Given the description of an element on the screen output the (x, y) to click on. 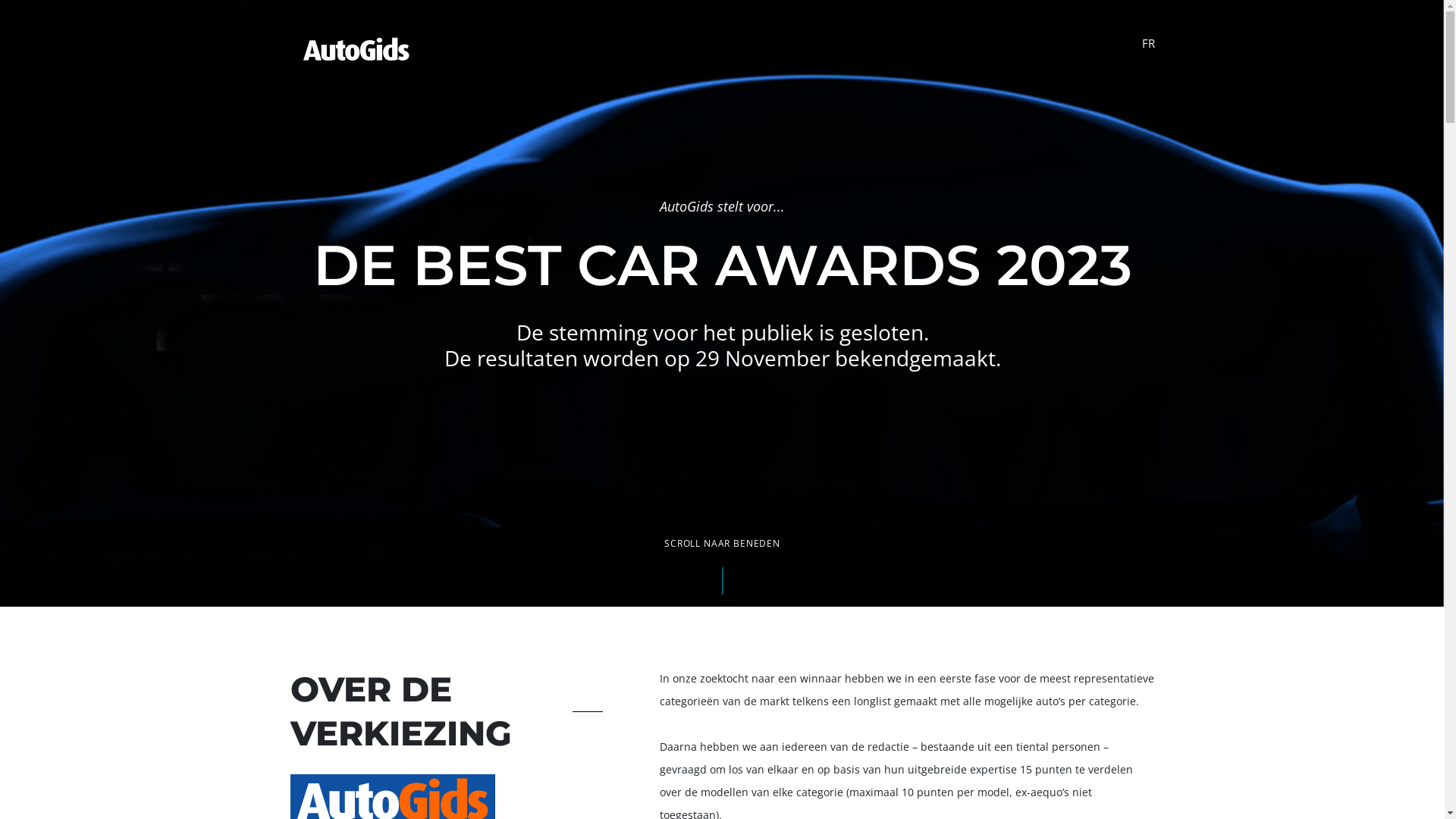
FR Element type: text (1148, 42)
SCROLL NAAR BENEDEN Element type: text (722, 543)
